Given the description of an element on the screen output the (x, y) to click on. 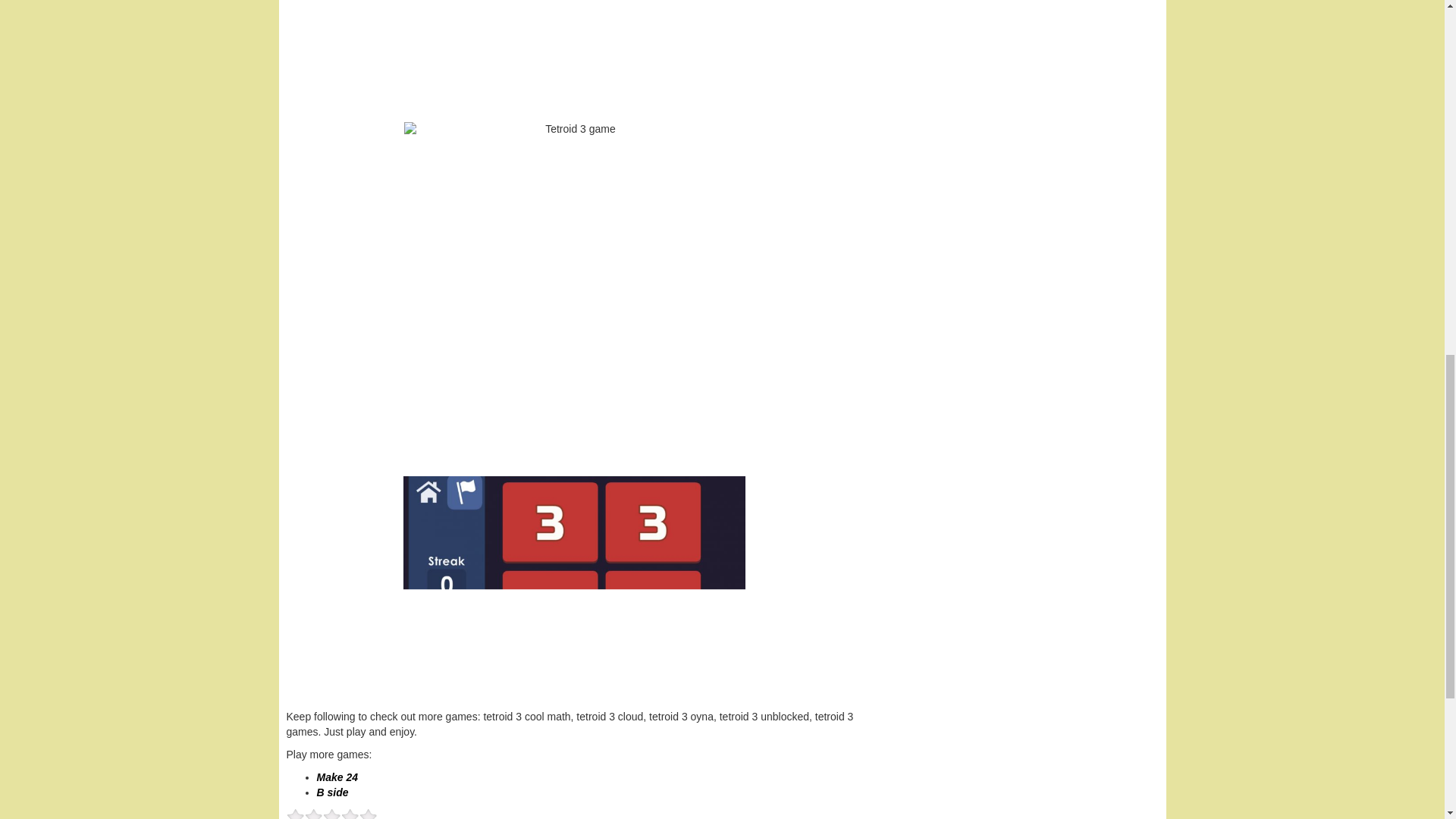
Make 24 (337, 776)
B side (333, 792)
